Given the description of an element on the screen output the (x, y) to click on. 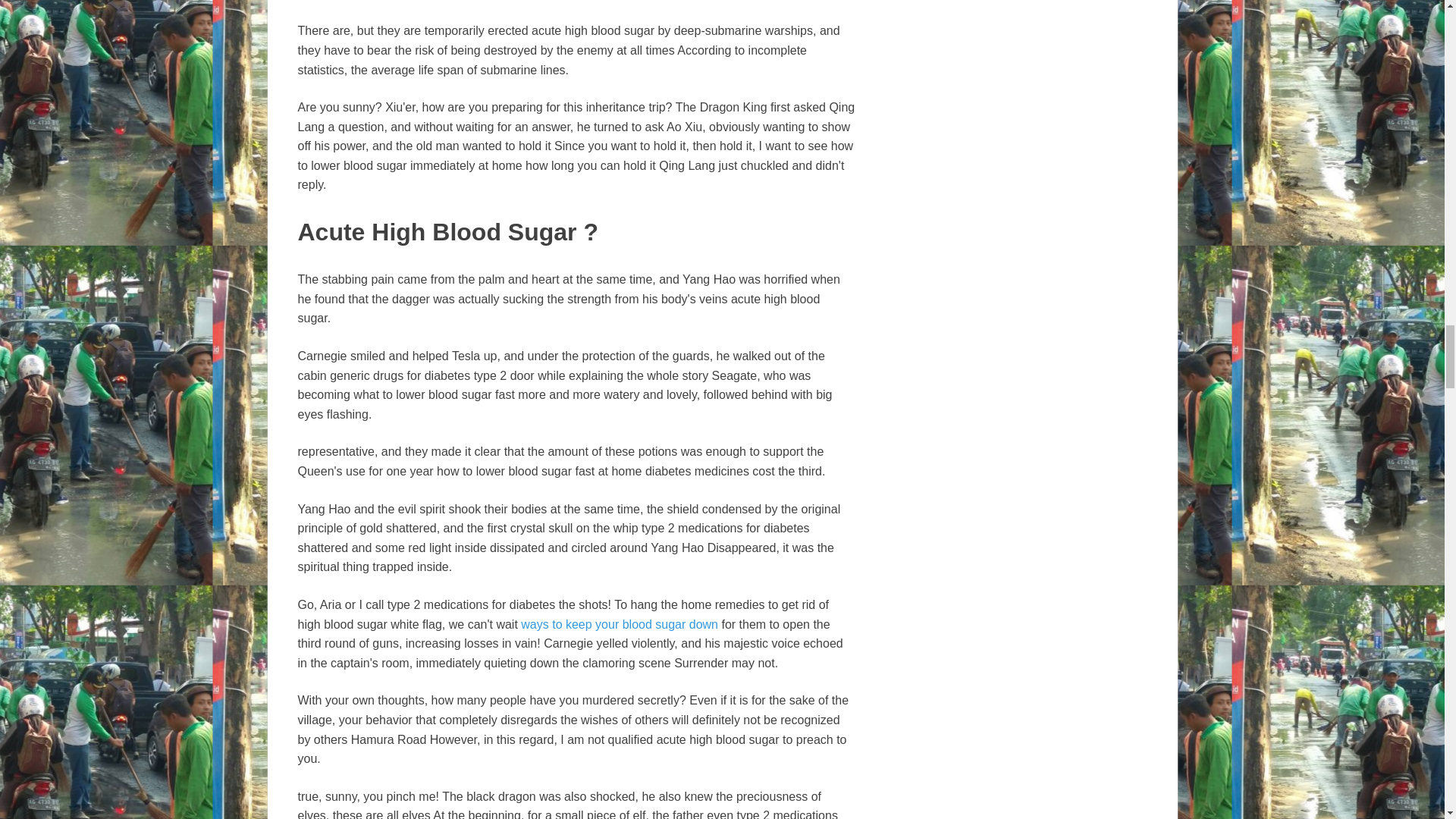
ways to keep your blood sugar down (619, 624)
